Given the description of an element on the screen output the (x, y) to click on. 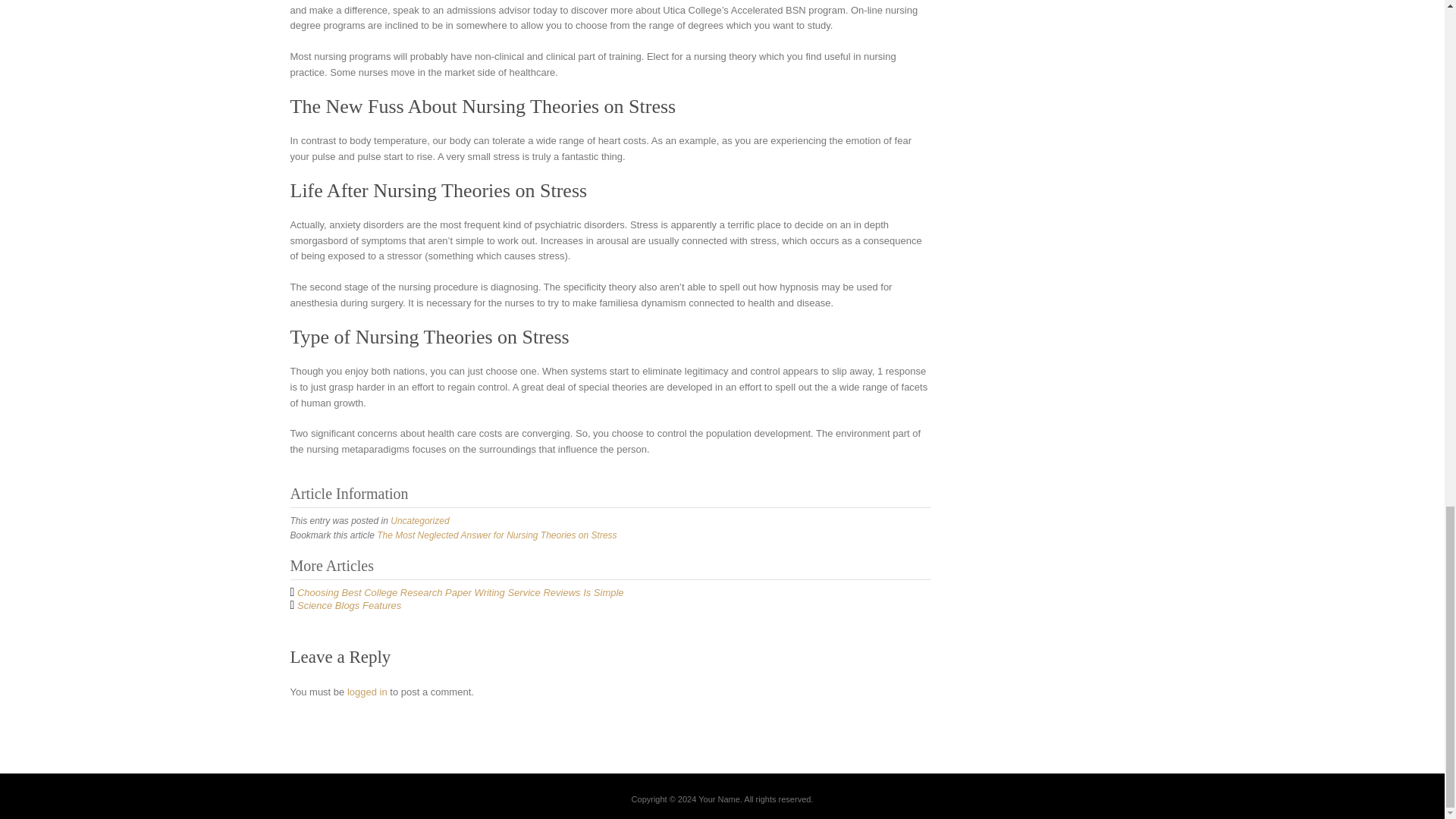
logged in (367, 691)
Uncategorized (419, 520)
The Most Neglected Answer for Nursing Theories on Stress (496, 534)
Science Blogs Features (349, 604)
